Given the description of an element on the screen output the (x, y) to click on. 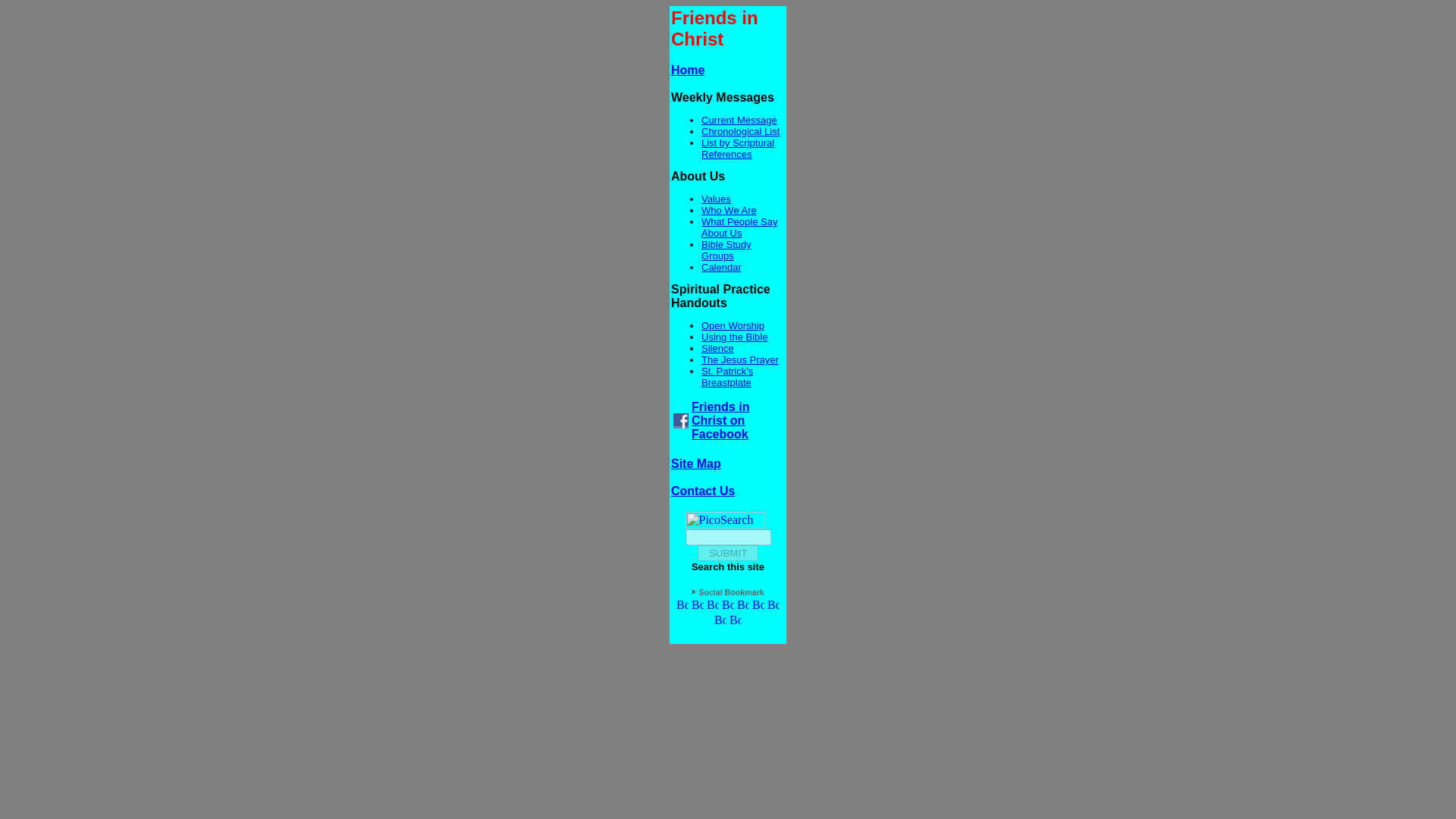
Current Message (739, 120)
Bookmark to: Google (712, 605)
Home (687, 69)
Bookmark to: Reddit (720, 621)
Bookmark to: Twitter (697, 605)
Bookmark to: Del.icio.us (742, 605)
  SUBMIT   (727, 553)
Chronological List (739, 131)
Social Bookmark (730, 592)
Who We Are (729, 210)
